Given the description of an element on the screen output the (x, y) to click on. 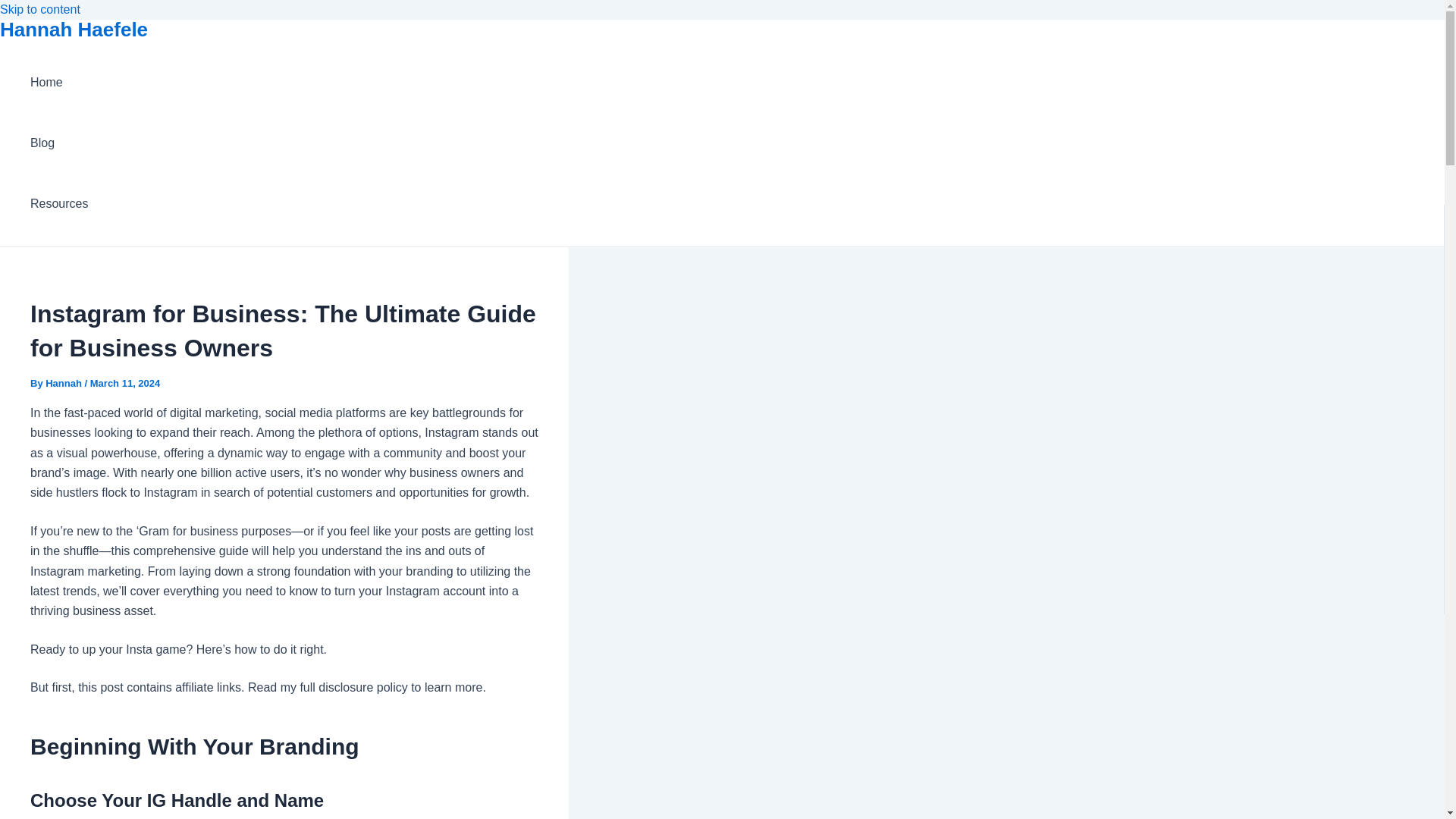
Hannah Haefele (74, 29)
View all posts by Hannah (64, 383)
Resources (58, 203)
Skip to content (40, 9)
Hannah (64, 383)
Skip to content (40, 9)
Home (58, 82)
Blog (58, 143)
